Given the description of an element on the screen output the (x, y) to click on. 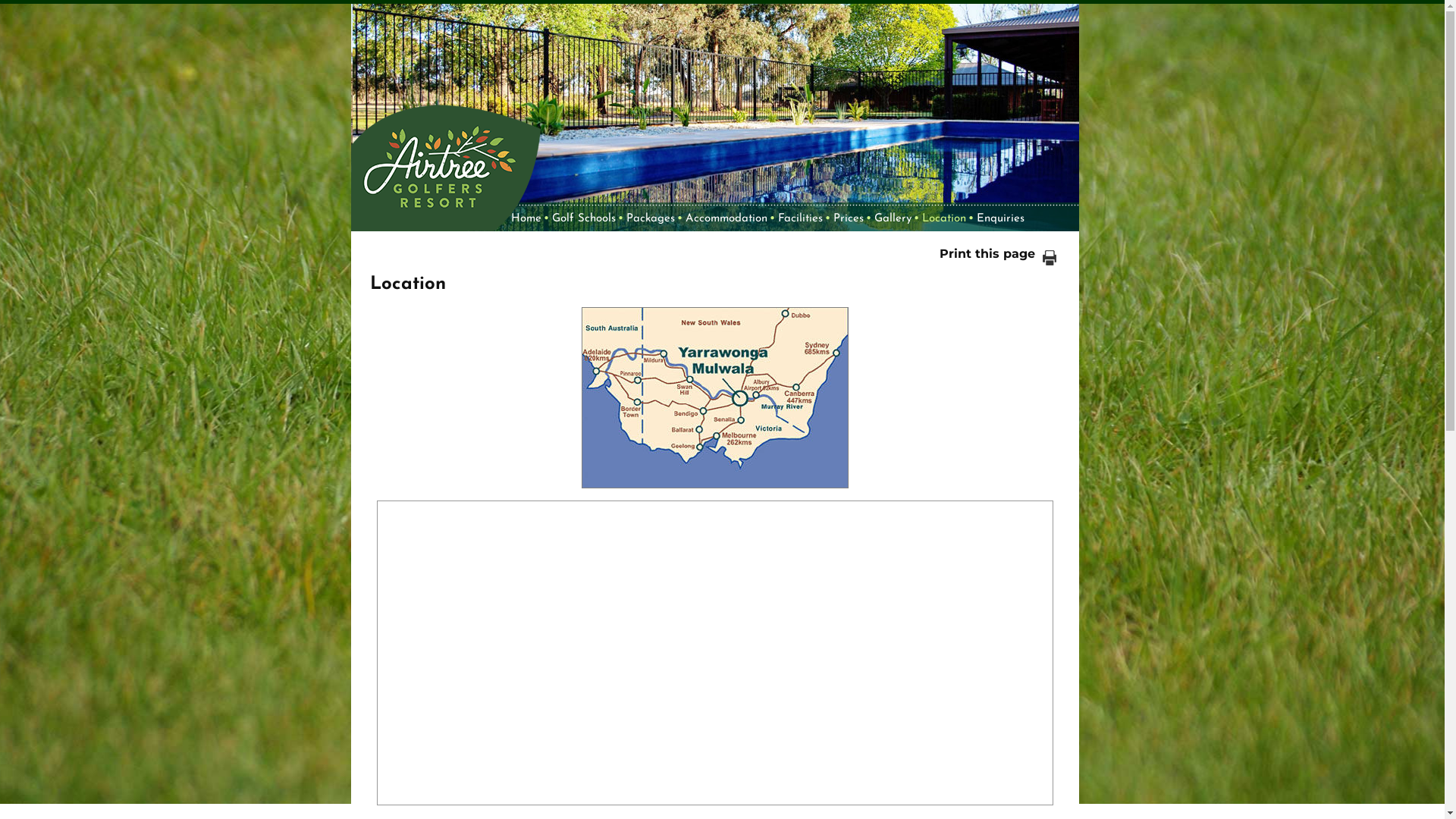
Facilities Element type: text (802, 218)
Print this page Element type: hover (1048, 257)
Golf Schools Element type: text (586, 218)
Accommodation Element type: text (728, 218)
Location Element type: text (946, 218)
Airtree Golfers Resort - Home page Element type: hover (444, 157)
Prices Element type: text (849, 218)
Enquiries Element type: text (1002, 218)
Gallery Element type: text (894, 218)
Print this page   Element type: text (996, 253)
Home Element type: text (528, 218)
Packages Element type: text (652, 218)
